Given the description of an element on the screen output the (x, y) to click on. 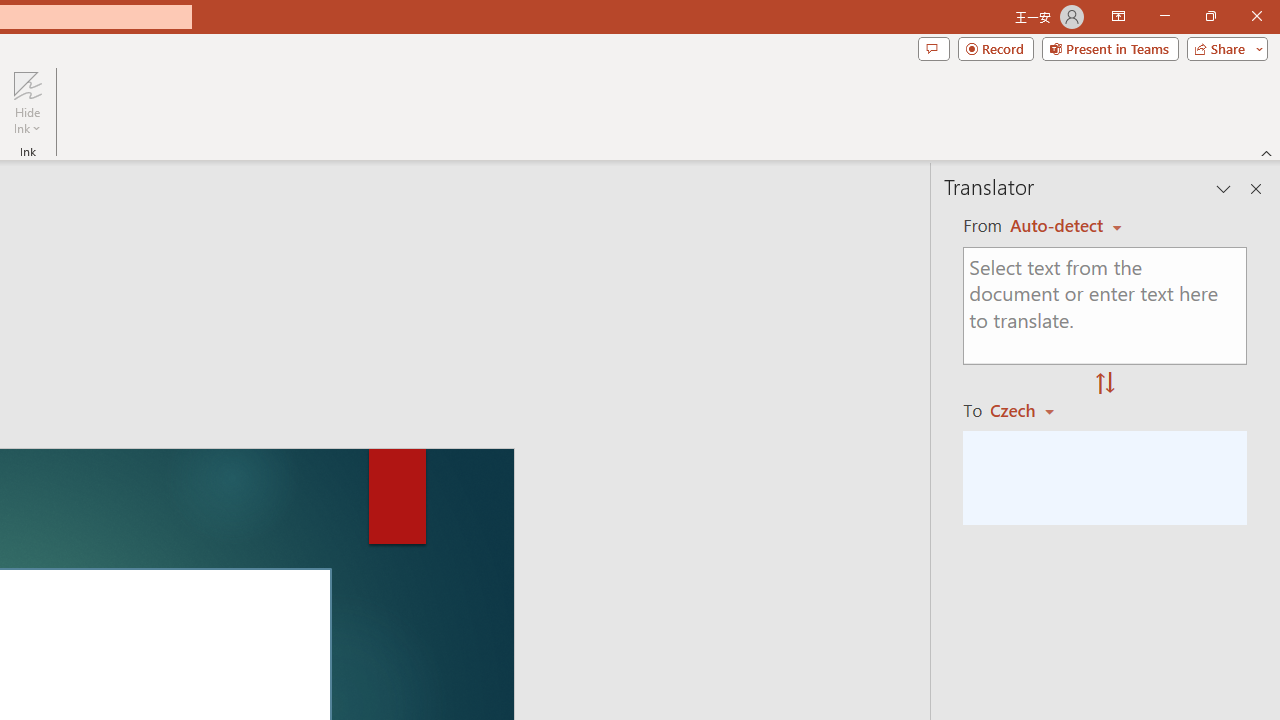
English (1066, 225)
